Given the description of an element on the screen output the (x, y) to click on. 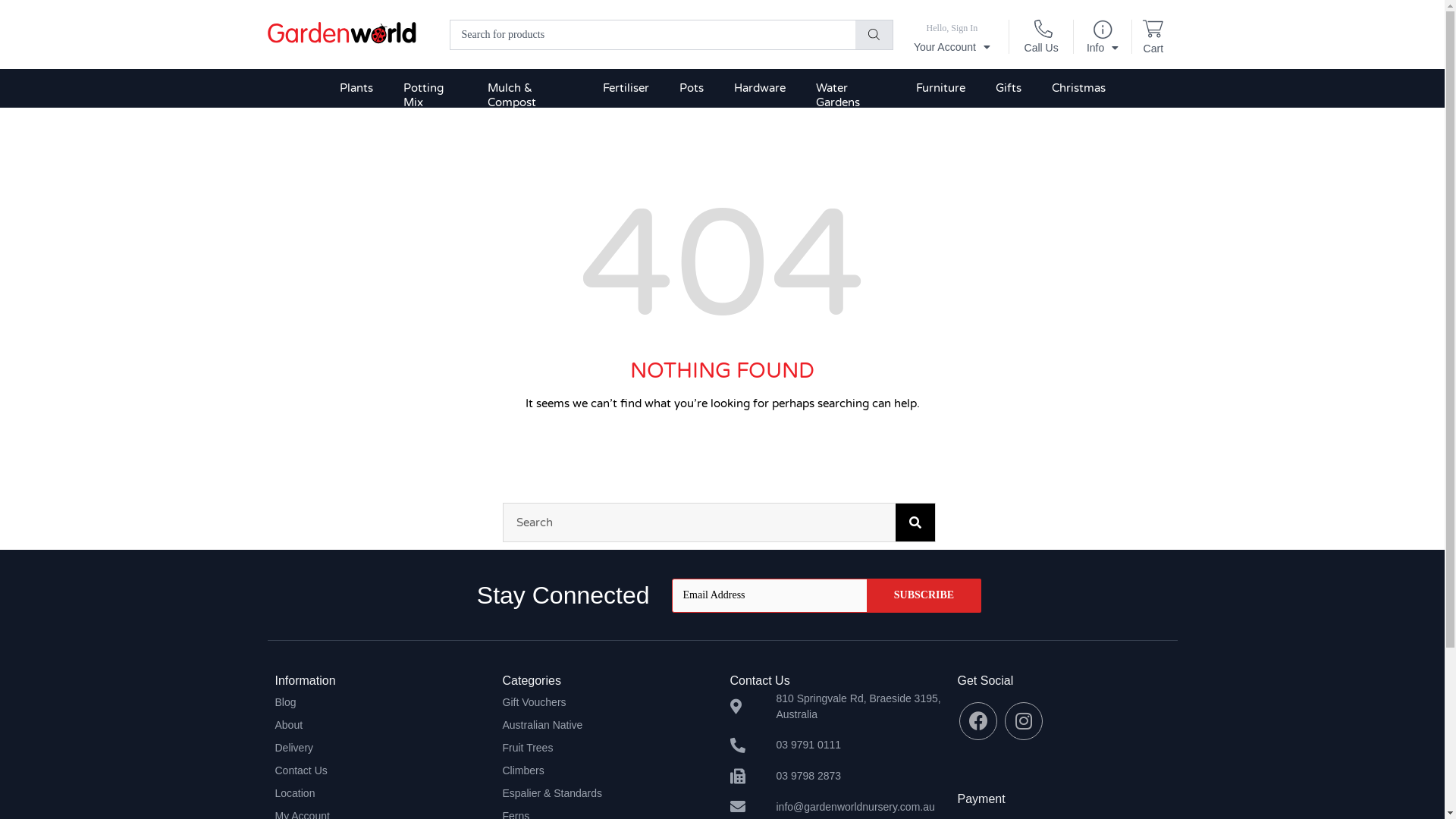
Call Us Element type: text (1041, 42)
Instagram Element type: text (1023, 721)
Info Element type: text (1102, 41)
Gift Vouchers Element type: text (608, 701)
Espalier & Standards Element type: text (608, 792)
Search Element type: text (915, 522)
About Element type: text (380, 724)
Hardware Element type: text (759, 88)
Christmas Element type: text (1078, 88)
Blog Element type: text (380, 701)
Contact Us Element type: text (380, 770)
Your Account Element type: text (951, 39)
Delivery Element type: text (380, 747)
GW_logo.svg Element type: hover (340, 33)
0 Element type: text (1153, 31)
Fruit Trees Element type: text (608, 747)
03 9791 0111 Element type: text (835, 745)
info@gardenworldnursery.com.au Element type: text (835, 807)
Facebook Element type: text (978, 721)
SUBSCRIBE Element type: text (924, 595)
Mulch & Compost Element type: text (529, 95)
Climbers Element type: text (608, 770)
Gifts Element type: text (1008, 88)
Location Element type: text (380, 792)
Australian Native Element type: text (608, 724)
